Given the description of an element on the screen output the (x, y) to click on. 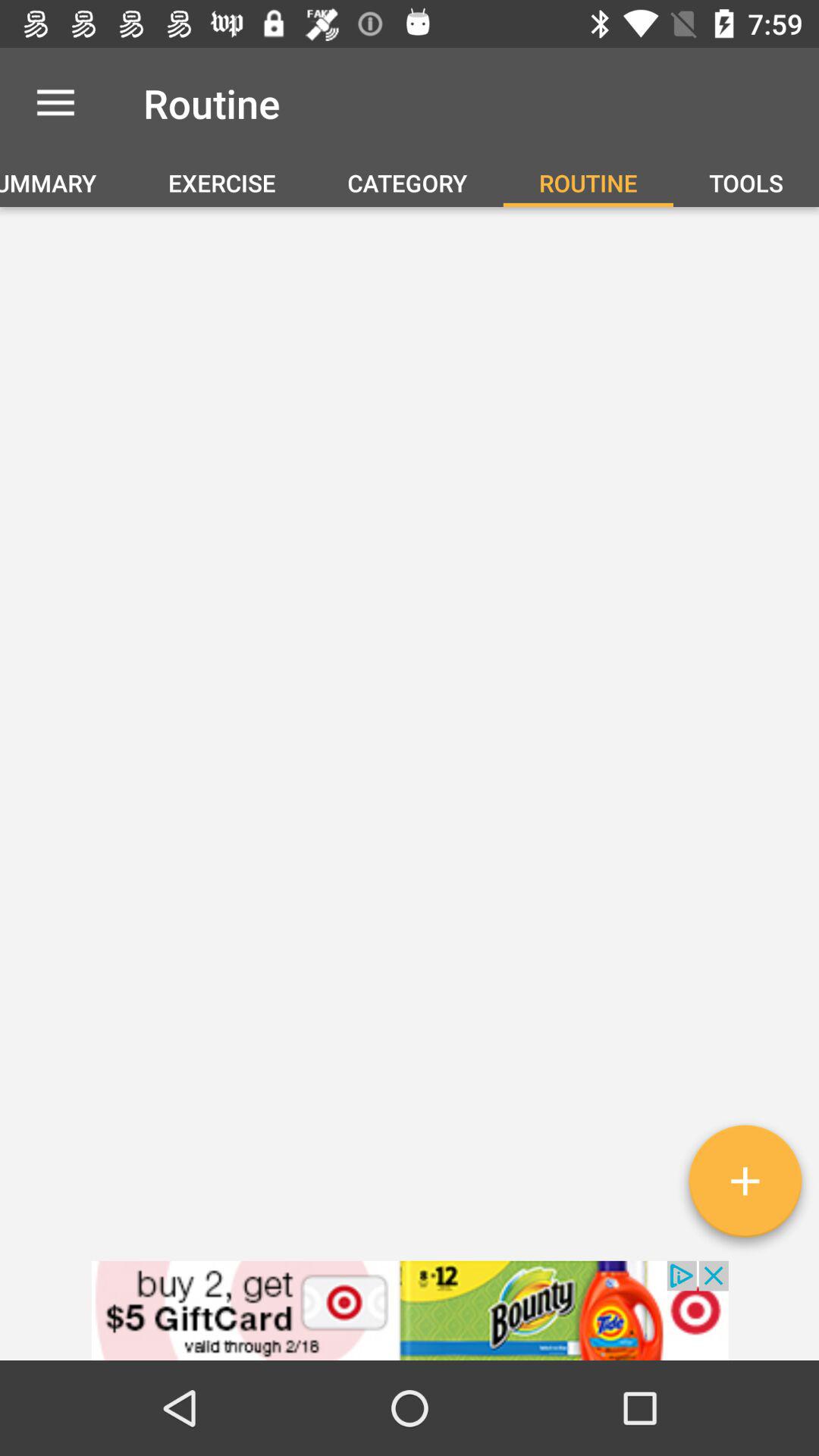
add a routine (745, 1186)
